Given the description of an element on the screen output the (x, y) to click on. 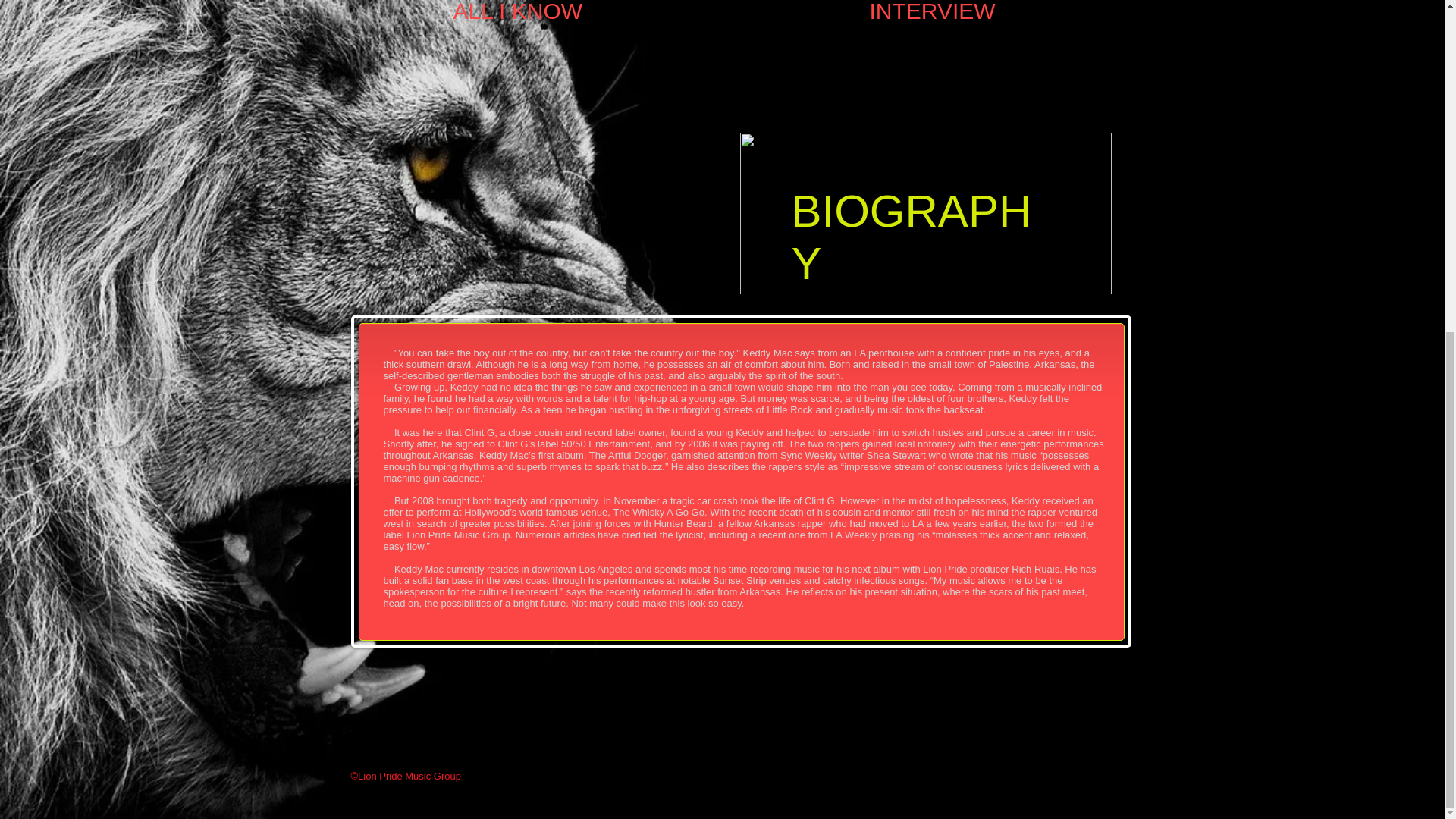
SoundCloud Player (532, 211)
SoundCloud Player (532, 95)
